Given the description of an element on the screen output the (x, y) to click on. 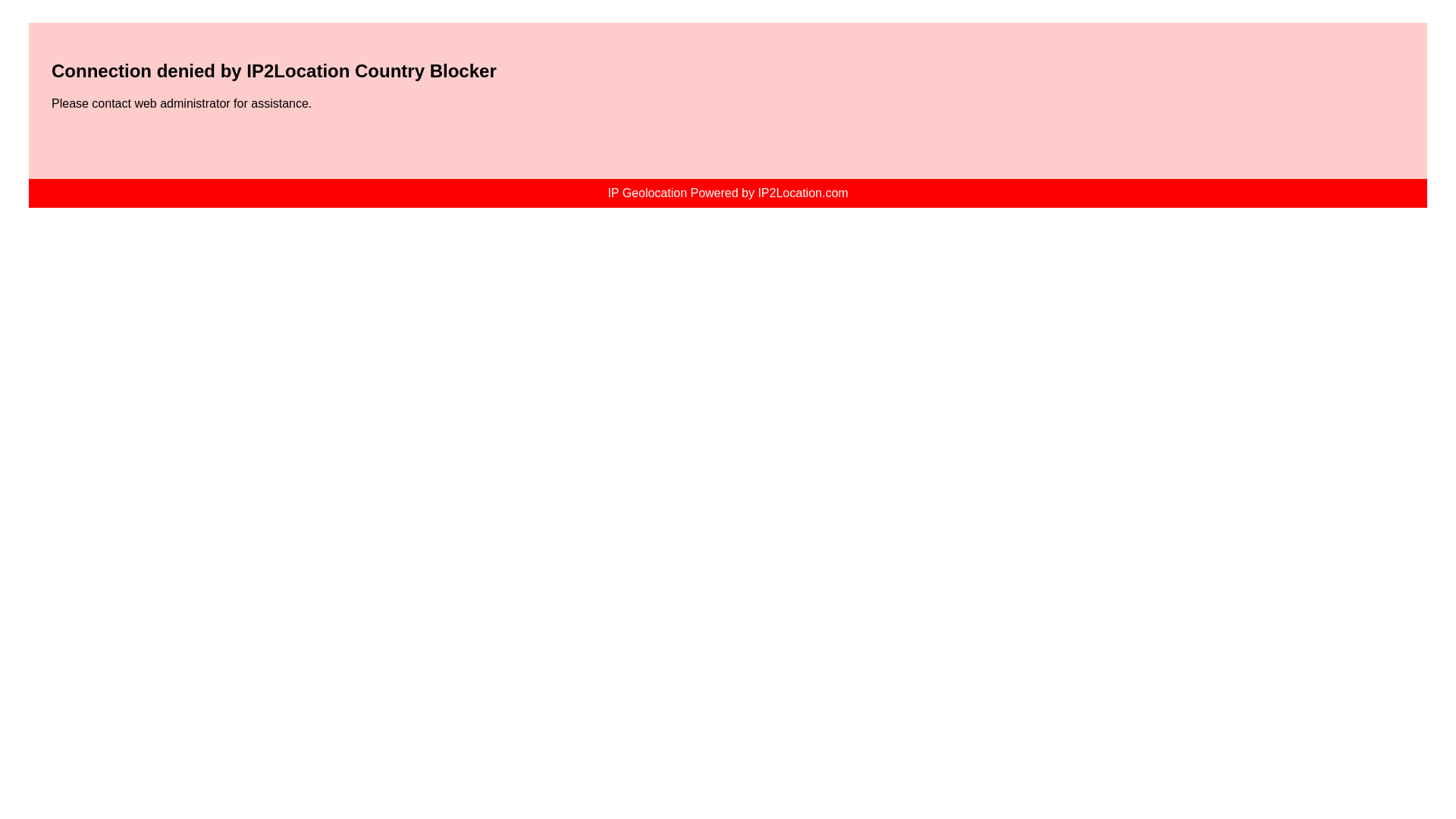
IP Geolocation Powered by IP2Location.com (727, 192)
